Given the description of an element on the screen output the (x, y) to click on. 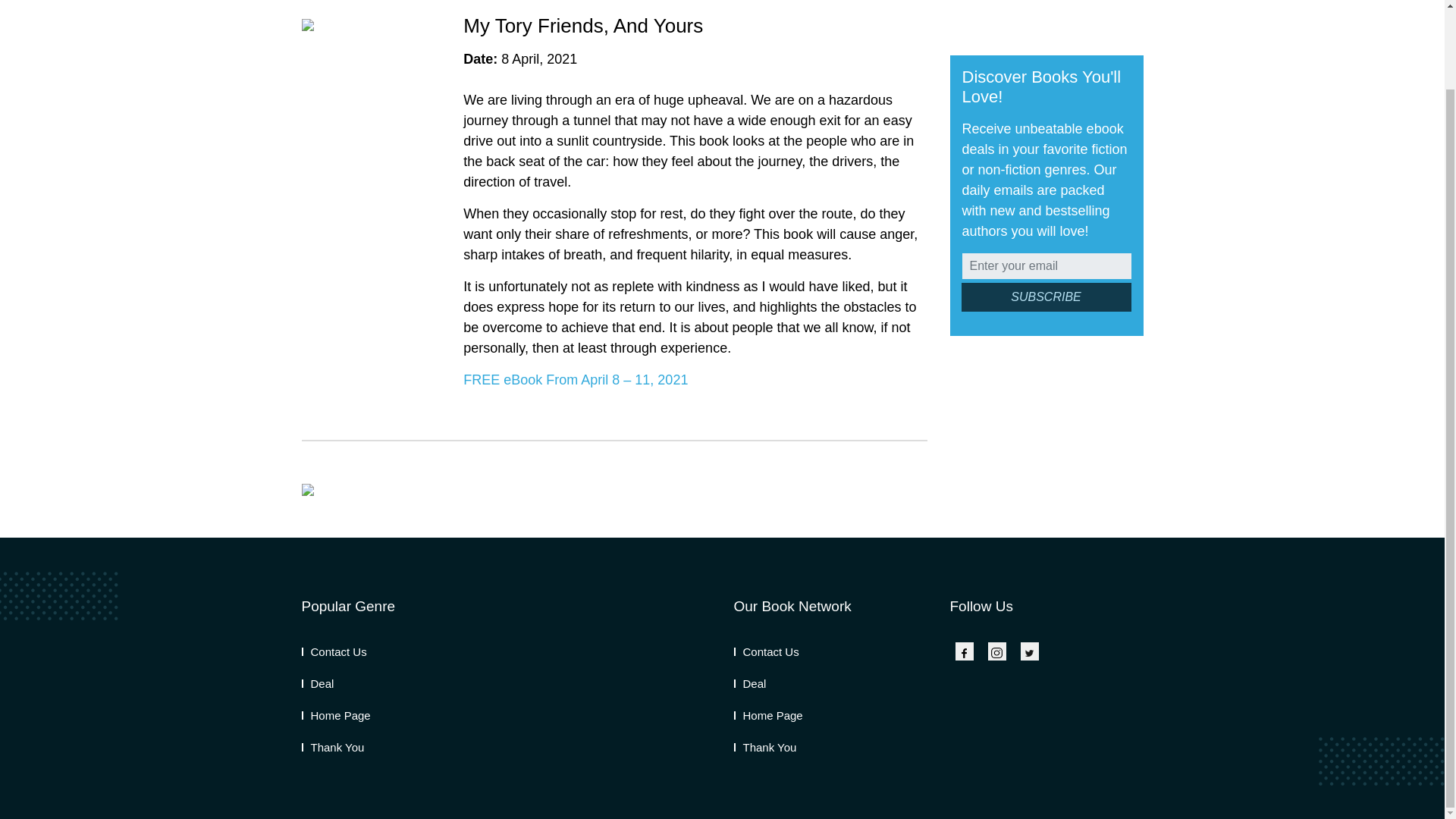
Thank You (764, 747)
Home Page (336, 715)
My Tory Friends, And Yours (583, 25)
Deal (317, 683)
Deal (750, 683)
Contact Us (333, 651)
Subscribe (1045, 297)
Subscribe (1045, 297)
Contact Us (766, 651)
Home Page (768, 715)
Thank You (333, 747)
